Given the description of an element on the screen output the (x, y) to click on. 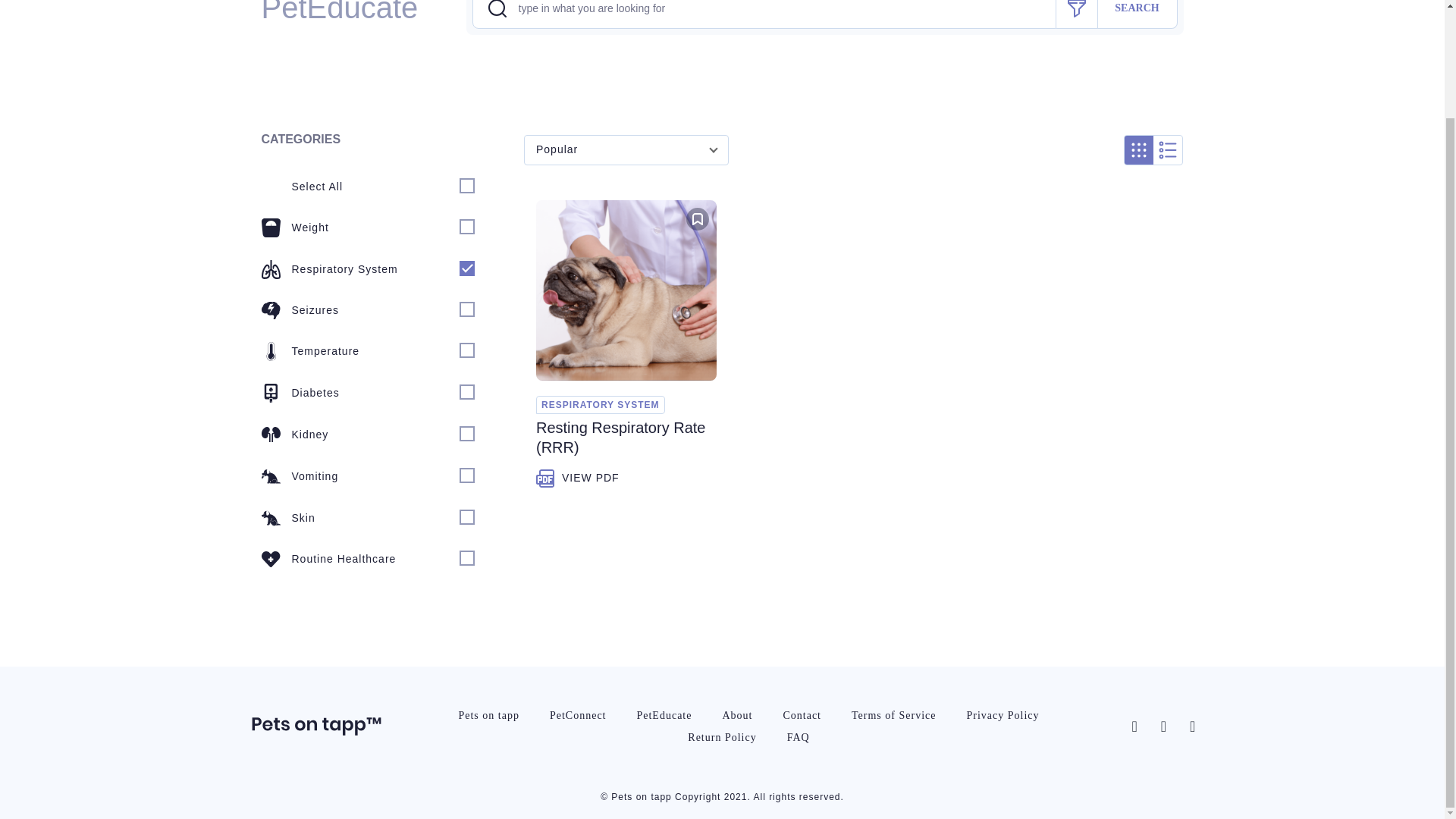
SEARCH (1137, 14)
Return Policy (721, 737)
Pets on tapp (488, 715)
Terms of Service (892, 715)
About (736, 715)
VIEW PDF (577, 478)
PetConnect (577, 715)
FAQ (798, 737)
PetEducate (663, 715)
Contact (801, 715)
Privacy Policy (1002, 715)
